Given the description of an element on the screen output the (x, y) to click on. 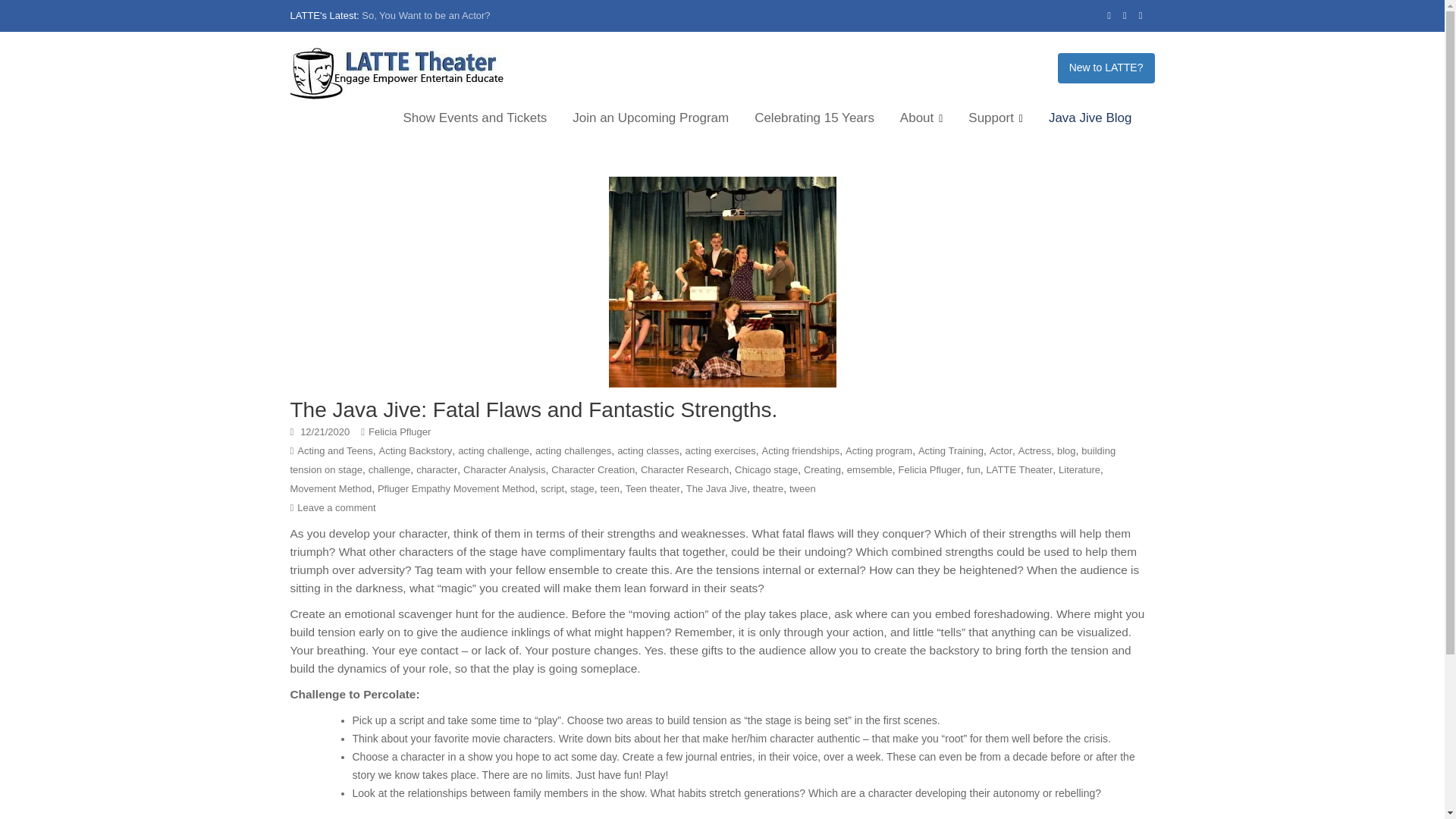
acting challenge (493, 450)
Java Jive Blog (1089, 118)
Show Events and Tickets (474, 118)
New to LATTE? (1106, 68)
Acting Backstory (415, 450)
acting challenges (573, 450)
Support (994, 118)
acting classes (648, 450)
About (921, 118)
The Java Jive: Fatal Flaws and Fantastic Strengths. (533, 409)
Acting and Teens (334, 450)
Felicia Pfluger (399, 431)
Join an Upcoming Program (649, 118)
So, You Want to be an Actor? (425, 15)
Celebrating 15 Years (813, 118)
